Given the description of an element on the screen output the (x, y) to click on. 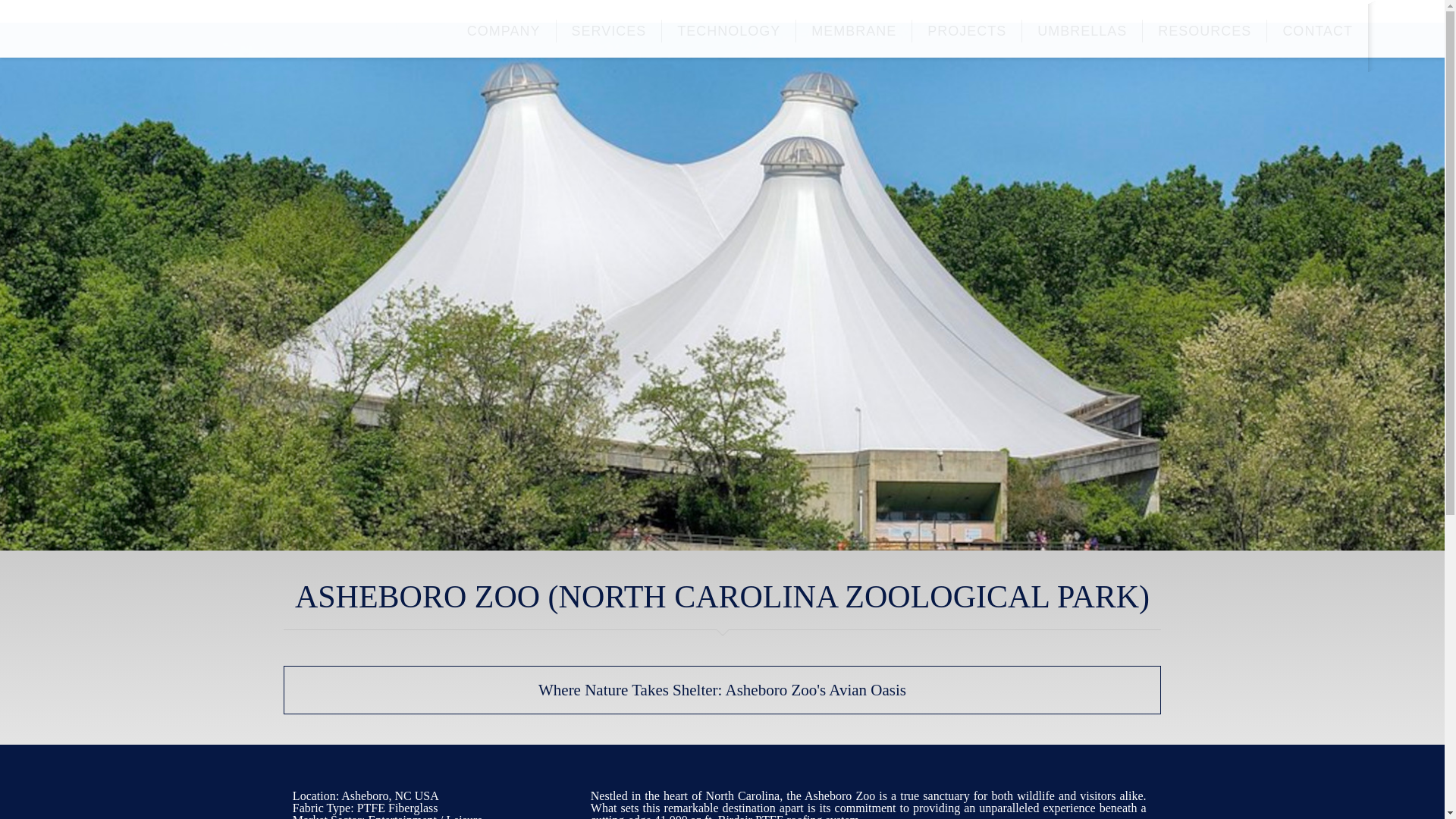
SERVICES (609, 31)
MEMBRANE (854, 31)
UMBRELLAS (1082, 31)
COMPANY (503, 31)
Birdair (121, 26)
CONTACT (1317, 31)
RESOURCES (1204, 31)
PROJECTS (967, 31)
TECHNOLOGY (729, 31)
